Given the description of an element on the screen output the (x, y) to click on. 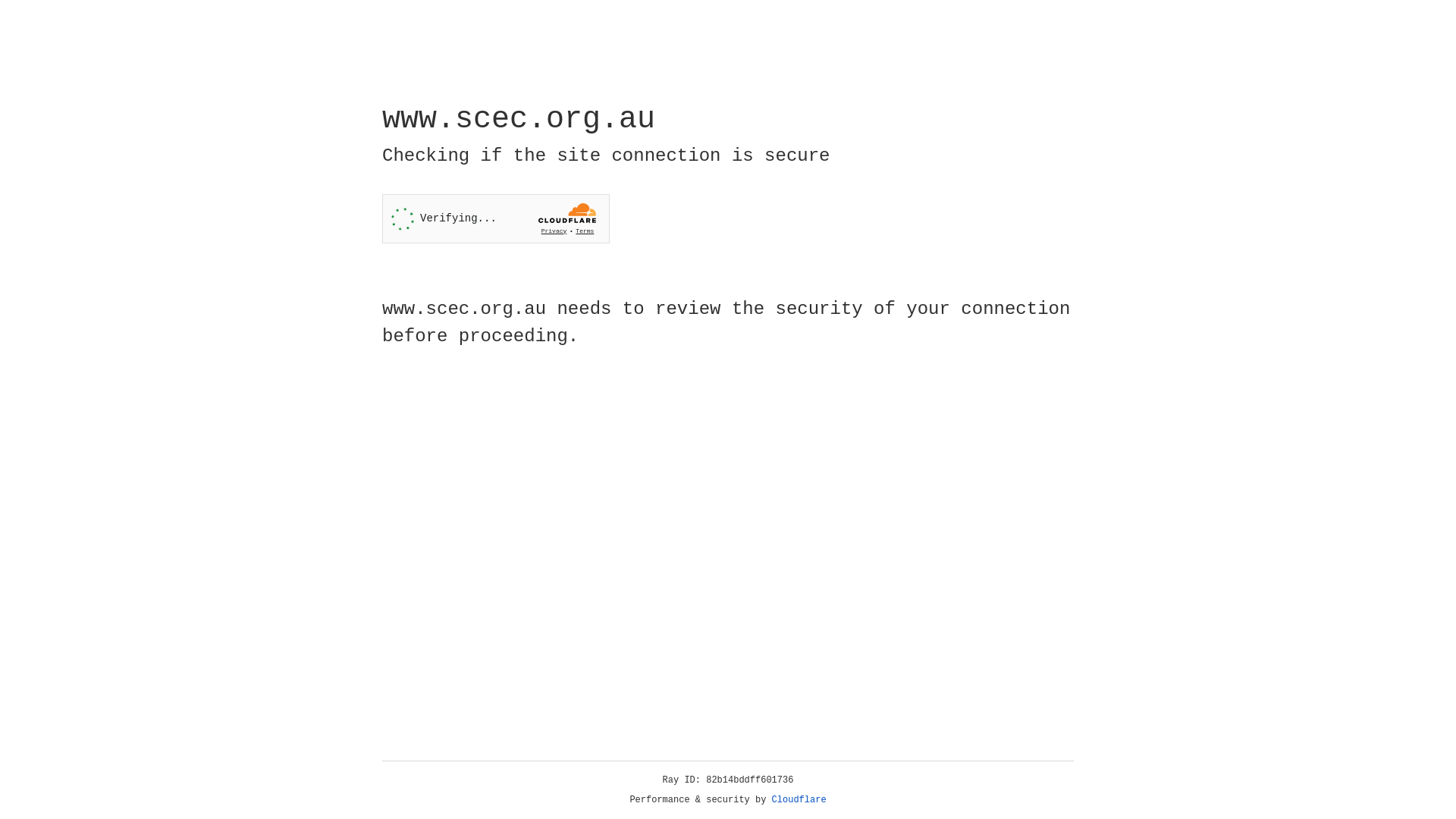
Cloudflare Element type: text (798, 799)
Widget containing a Cloudflare security challenge Element type: hover (495, 218)
